Given the description of an element on the screen output the (x, y) to click on. 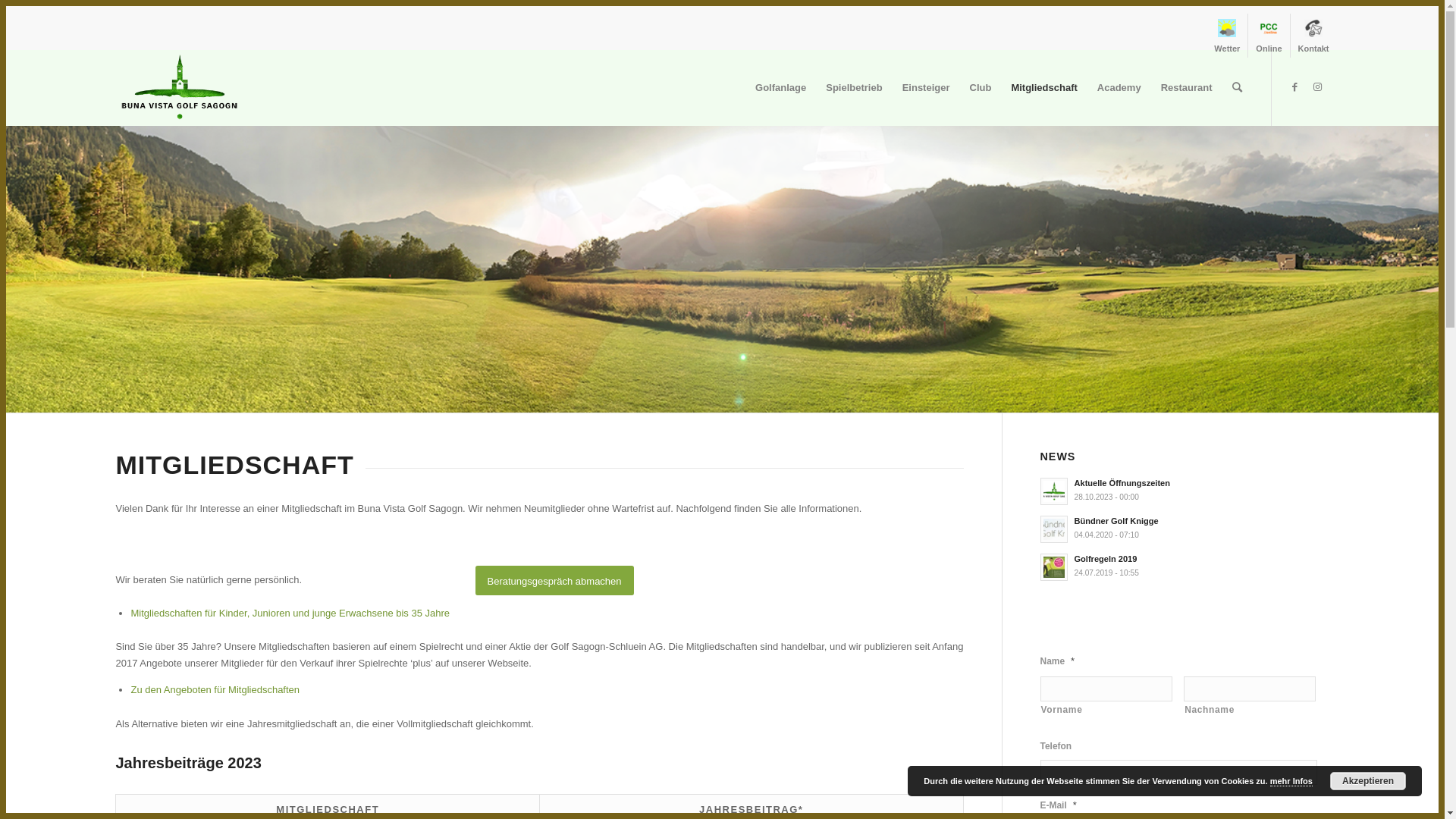
Academy Element type: text (1119, 87)
Online Element type: text (1268, 35)
Facebook Element type: hover (1294, 86)
Spielbetrieb Element type: text (853, 87)
Einsteiger Element type: text (926, 87)
Kontakt Element type: text (1313, 35)
Restaurant Element type: text (1186, 87)
Mitgliedschaft Element type: text (1043, 87)
Club Element type: text (980, 87)
Golfanlage Element type: text (780, 87)
Wetter Element type: text (1226, 35)
Instagram Element type: hover (1317, 86)
Golfregeln 2019
24.07.2019 - 10:55 Element type: text (1184, 565)
Akzeptieren Element type: text (1367, 780)
mehr Infos Element type: text (1291, 781)
